Given the description of an element on the screen output the (x, y) to click on. 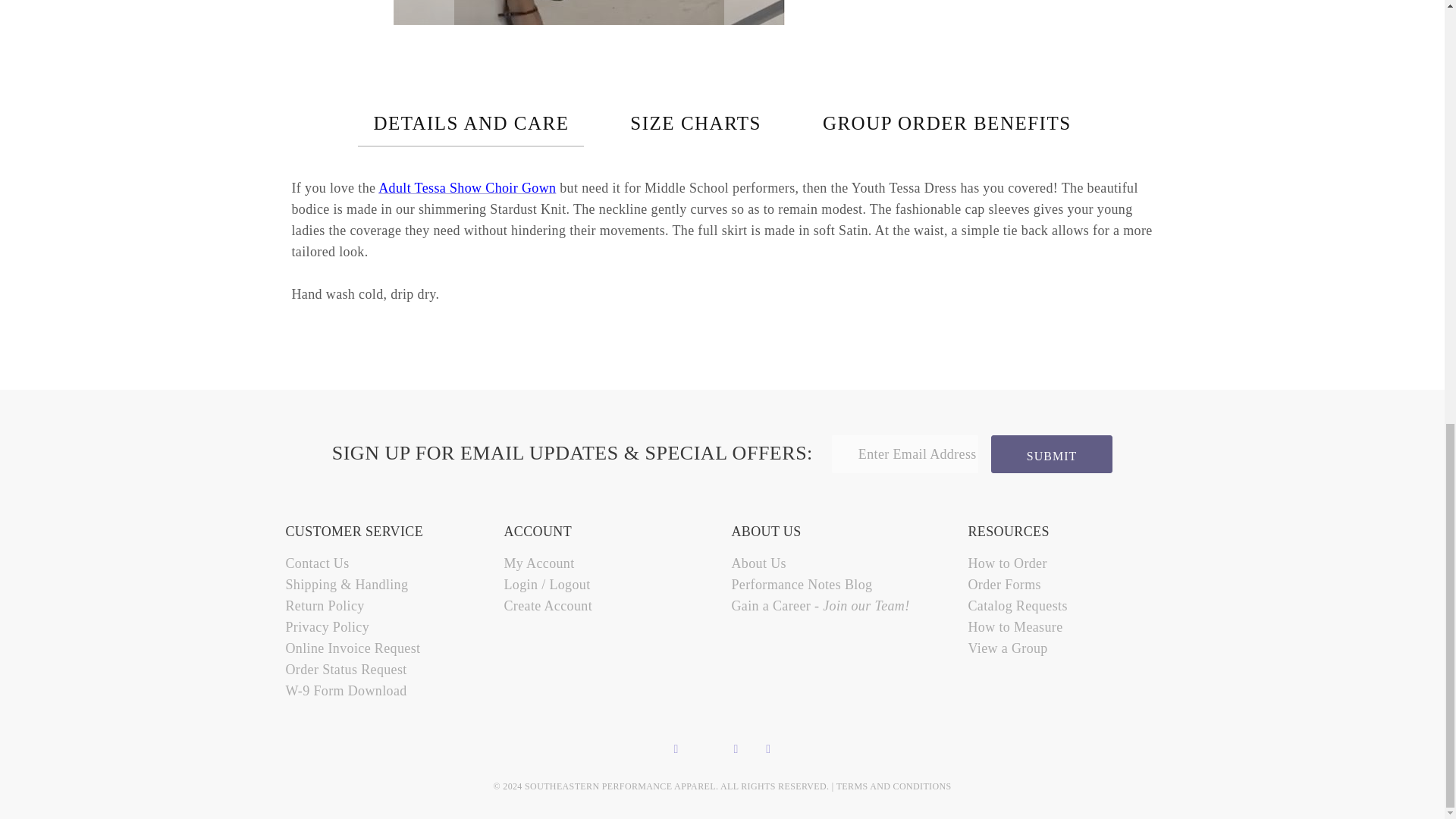
Submit (1051, 453)
Pinterest (735, 748)
Instagram (767, 748)
Facebook (676, 748)
